Given the description of an element on the screen output the (x, y) to click on. 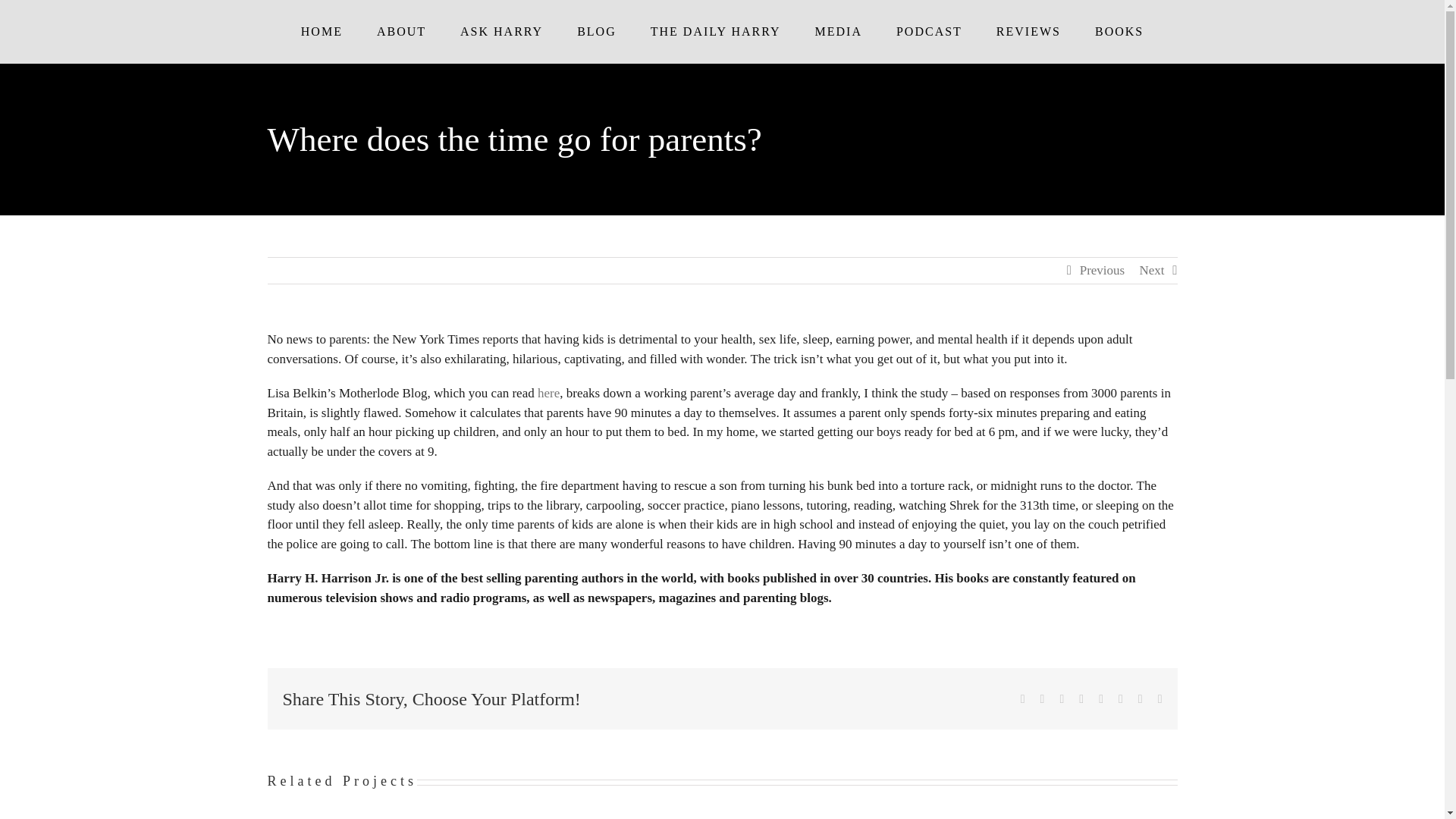
REVIEWS (1027, 31)
PODCAST (928, 31)
Next (1150, 270)
ABOUT (400, 31)
THE DAILY HARRY (715, 31)
here (548, 392)
ASK HARRY (502, 31)
MEDIA (838, 31)
BOOKS (1118, 31)
Previous (1102, 270)
HOME (321, 31)
BLOG (596, 31)
